Given the description of an element on the screen output the (x, y) to click on. 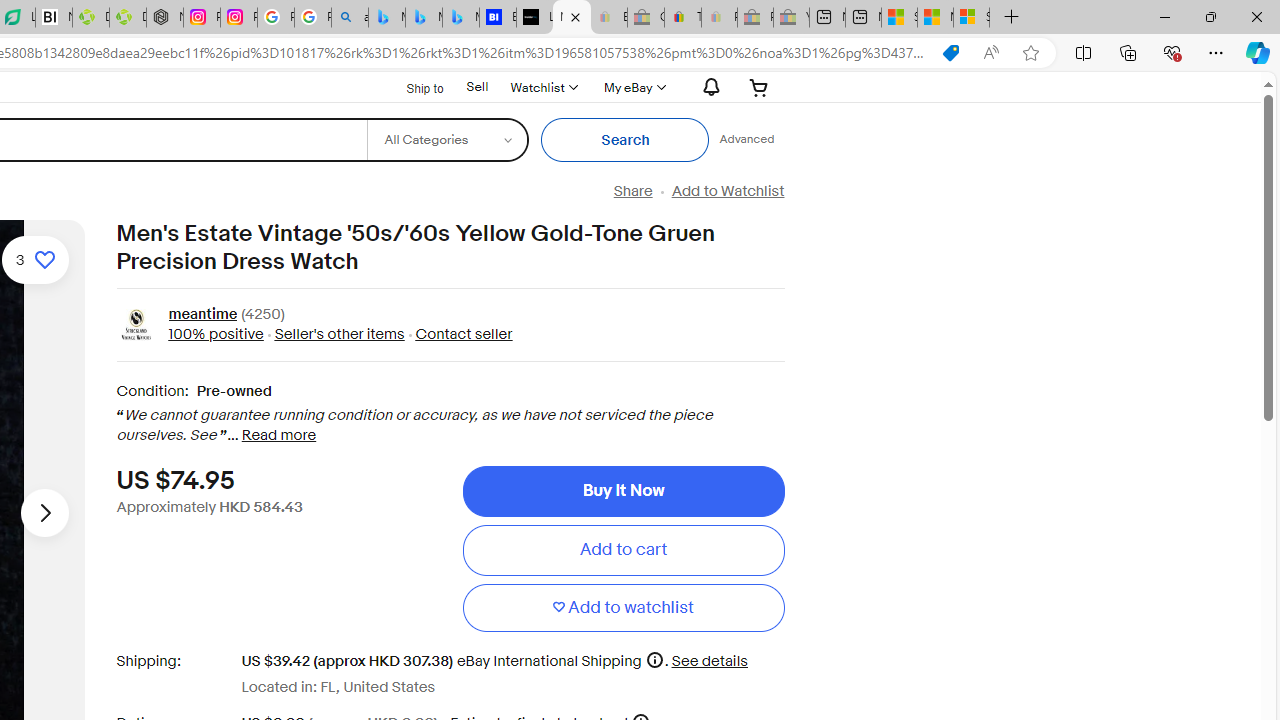
Yard, Garden & Outdoor Living - Sleeping (791, 17)
Add to watchlist (623, 607)
Sell (476, 87)
Add to watchlist - 3 watchers (35, 259)
Press Room - eBay Inc. - Sleeping (755, 17)
Class: ux-action (136, 325)
Threats and offensive language policy | eBay (682, 17)
More information (654, 660)
My eBayExpand My eBay (632, 87)
Microsoft Bing Travel - Flights from Hong Kong to Bangkok (386, 17)
